Given the description of an element on the screen output the (x, y) to click on. 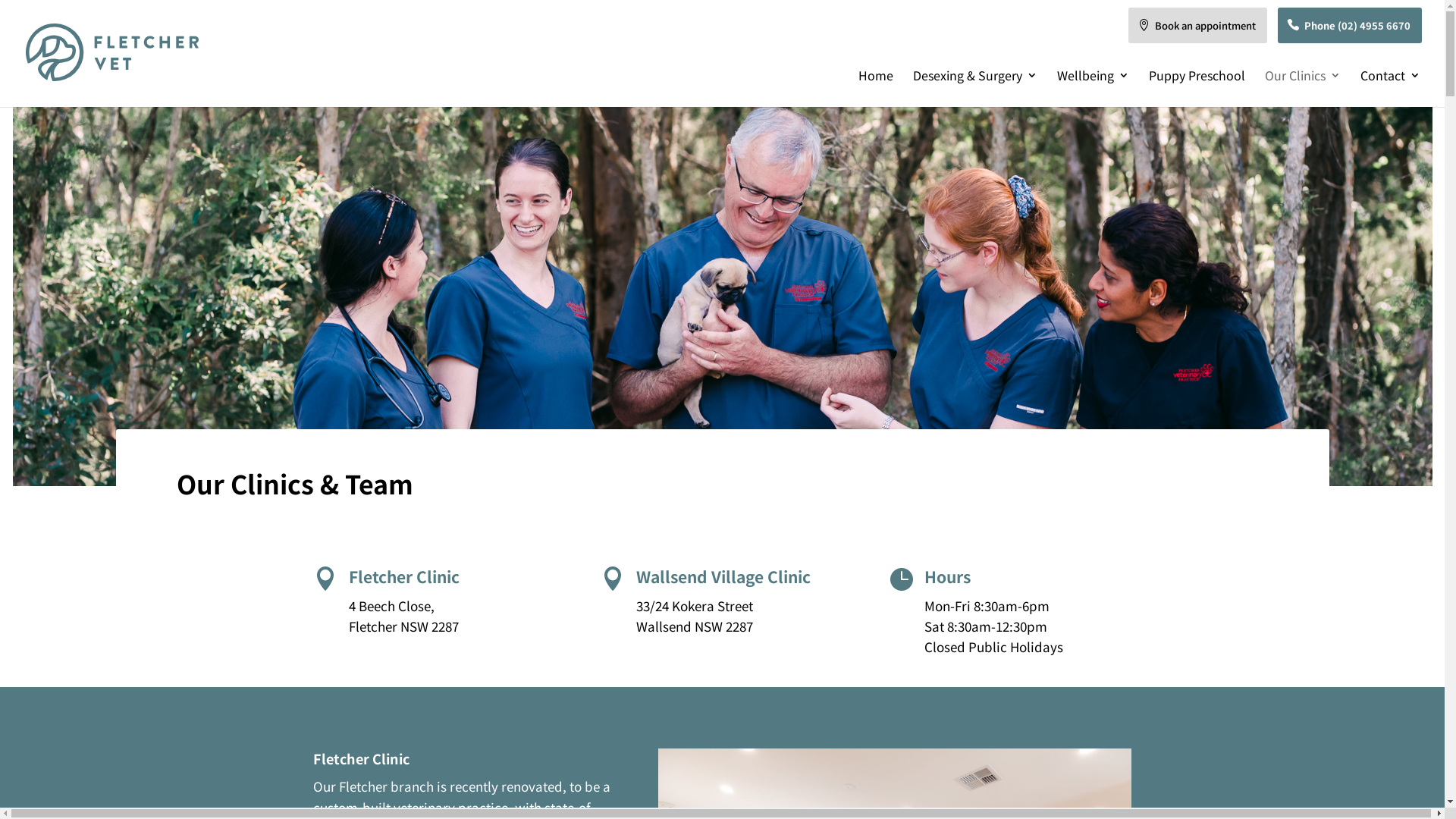
Book an appointment Element type: text (1197, 25)
Fletcher Clinic Element type: text (403, 575)
Contact Element type: text (1390, 87)
Our Clinics Element type: text (1302, 87)
Desexing & Surgery Element type: text (975, 87)
Puppy Preschool Element type: text (1196, 87)
Wallsend Village Clinic Element type: text (723, 575)
Phone (02) 4955 6670 Element type: text (1349, 25)
Wellbeing Element type: text (1093, 87)
Home Element type: text (875, 87)
